Given the description of an element on the screen output the (x, y) to click on. 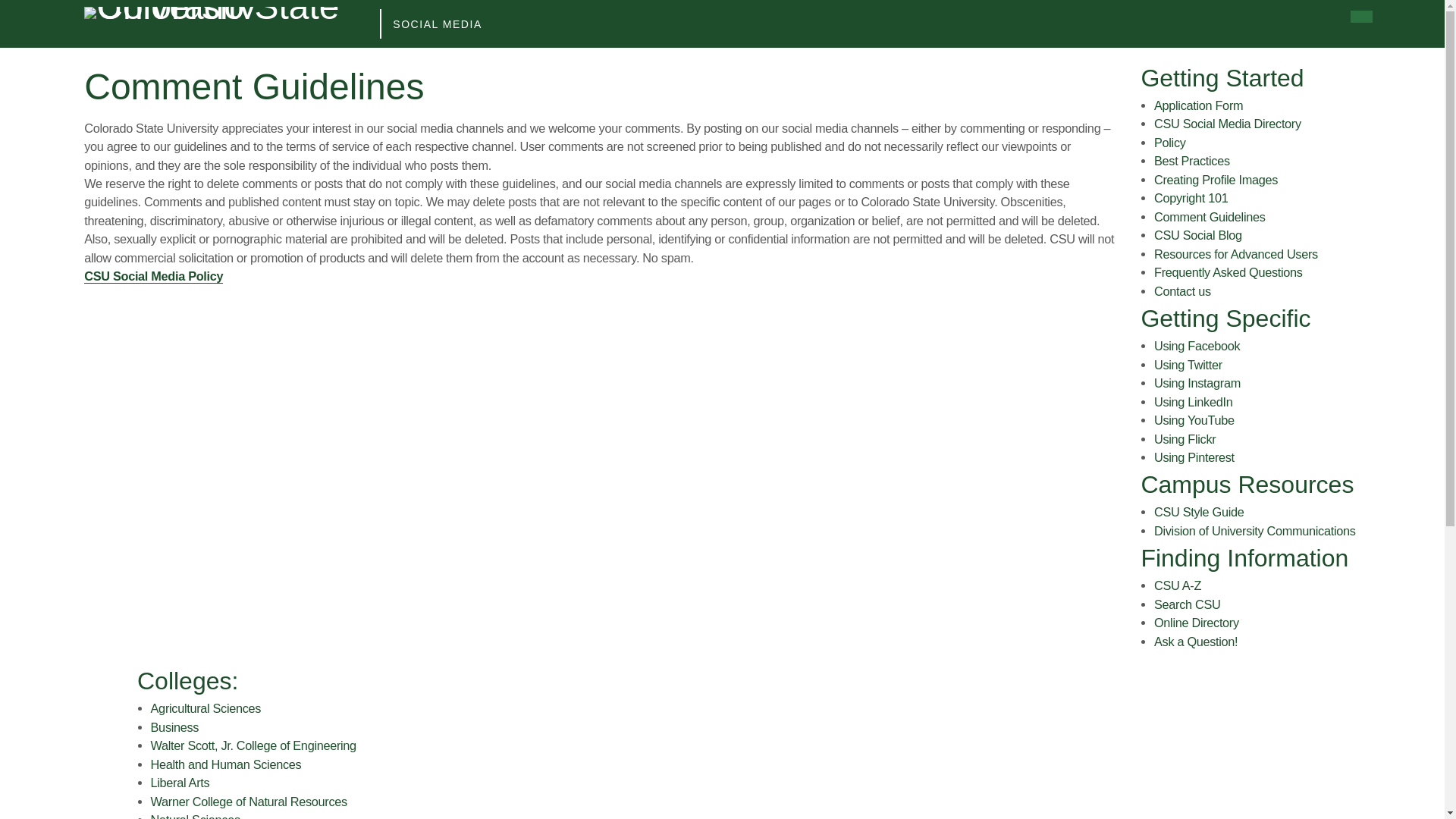
Using Facebook (1197, 345)
CSU A-Z (1177, 585)
Policy (1170, 142)
Using LinkedIn (1192, 401)
Contact us (1182, 291)
Business (175, 726)
Walter Scott, Jr. College of Engineering (253, 745)
Frequently Asked Questions (1228, 272)
CSU Social Media Directory (1227, 123)
Copyright 101 (1190, 197)
